Given the description of an element on the screen output the (x, y) to click on. 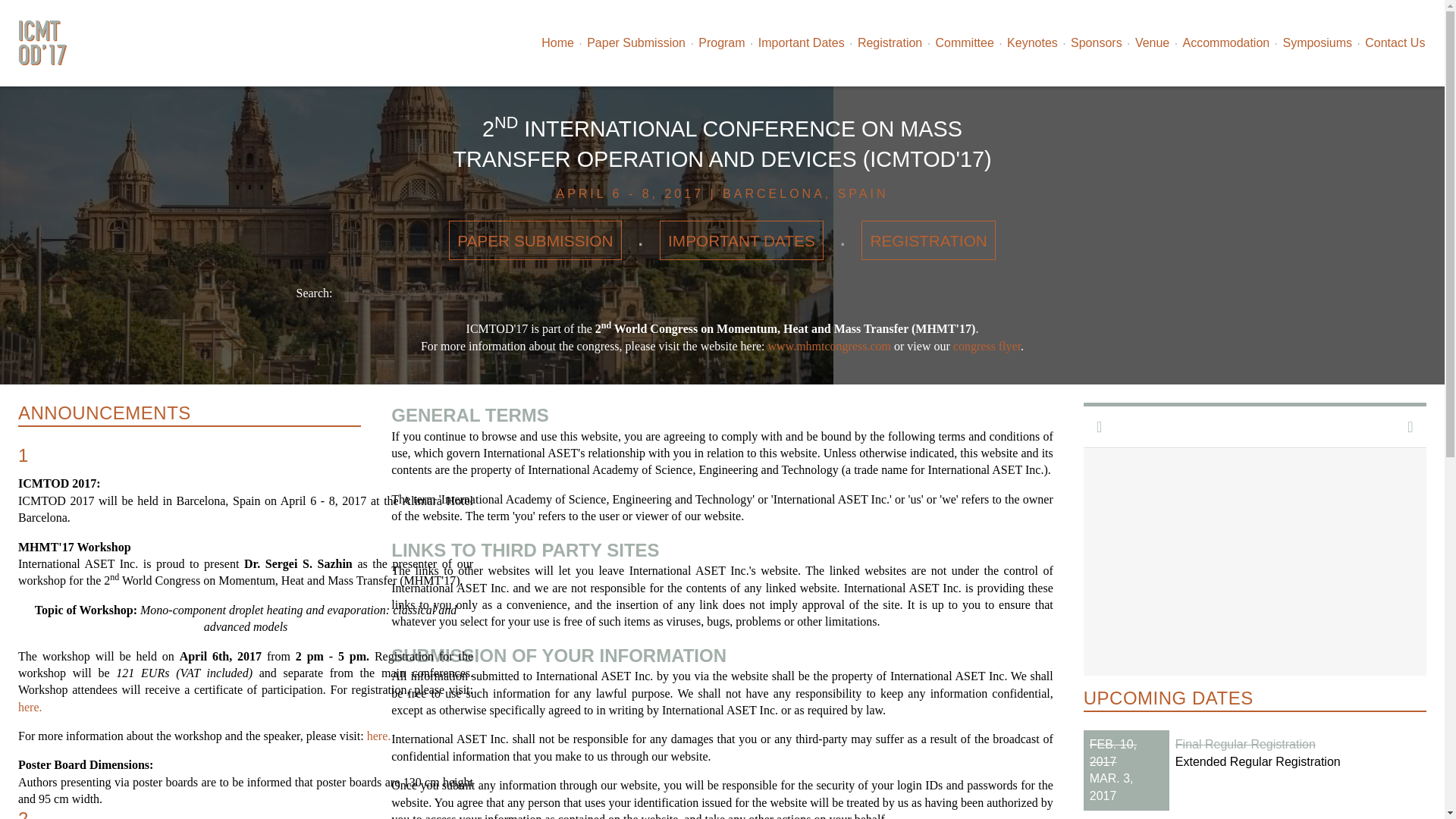
Committee (964, 42)
Accommodation (1225, 42)
Sponsors (1095, 42)
Home (557, 42)
congress flyer (986, 345)
Keynotes (1032, 42)
PAPER SUBMISSION (534, 240)
REGISTRATION (928, 240)
Important Dates (801, 42)
here. (29, 707)
